Given the description of an element on the screen output the (x, y) to click on. 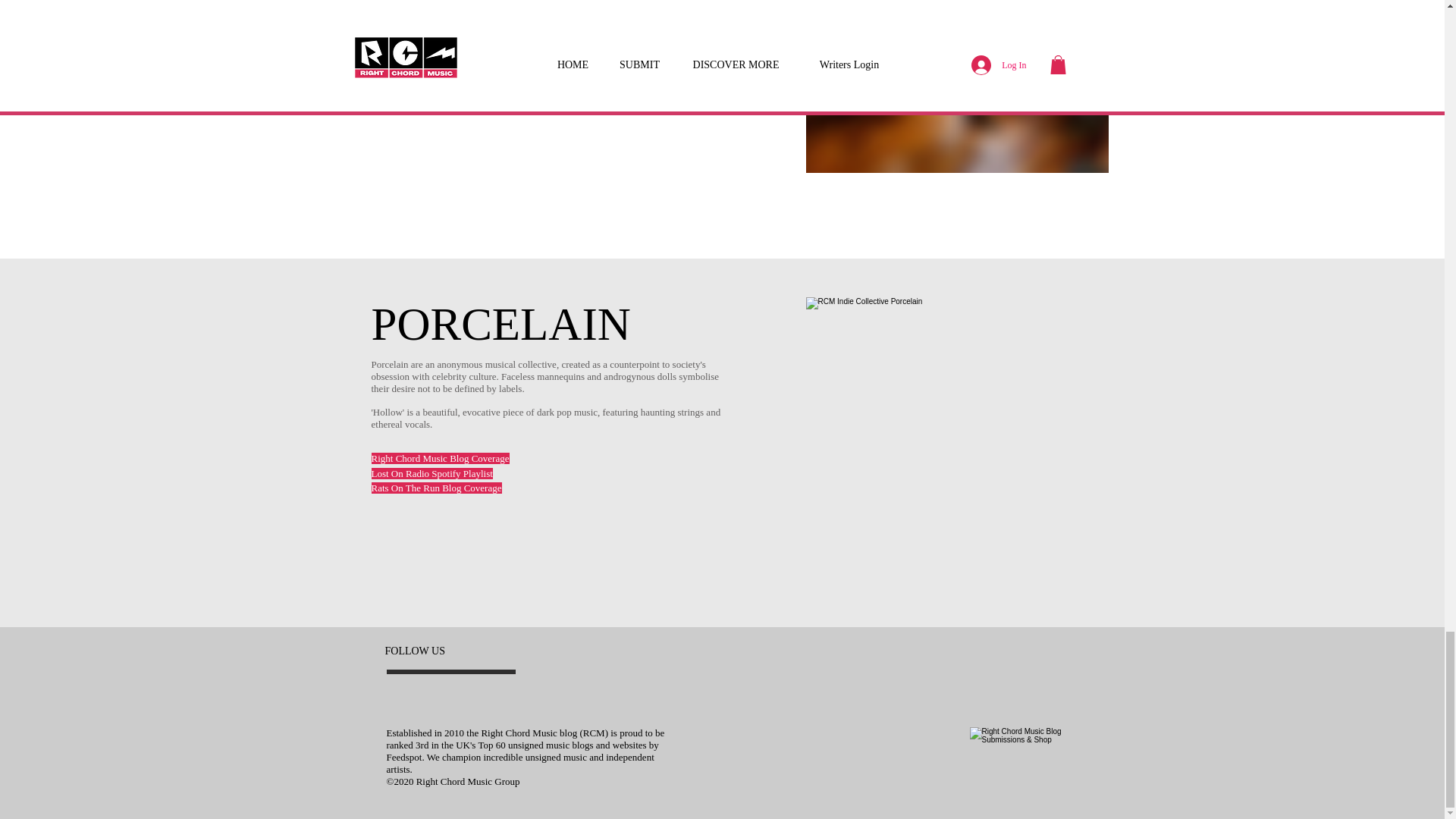
Right Chord Music Blog Coverage (440, 33)
Right Chord Music Blog Coverage (440, 458)
Rats On The Run Blog Coverage (436, 487)
Lost On Radio Spotify Playlist (432, 48)
Lost On Radio Spotify Playlist (432, 473)
Soho Radio Play with Iraina Mancini (444, 62)
